Given the description of an element on the screen output the (x, y) to click on. 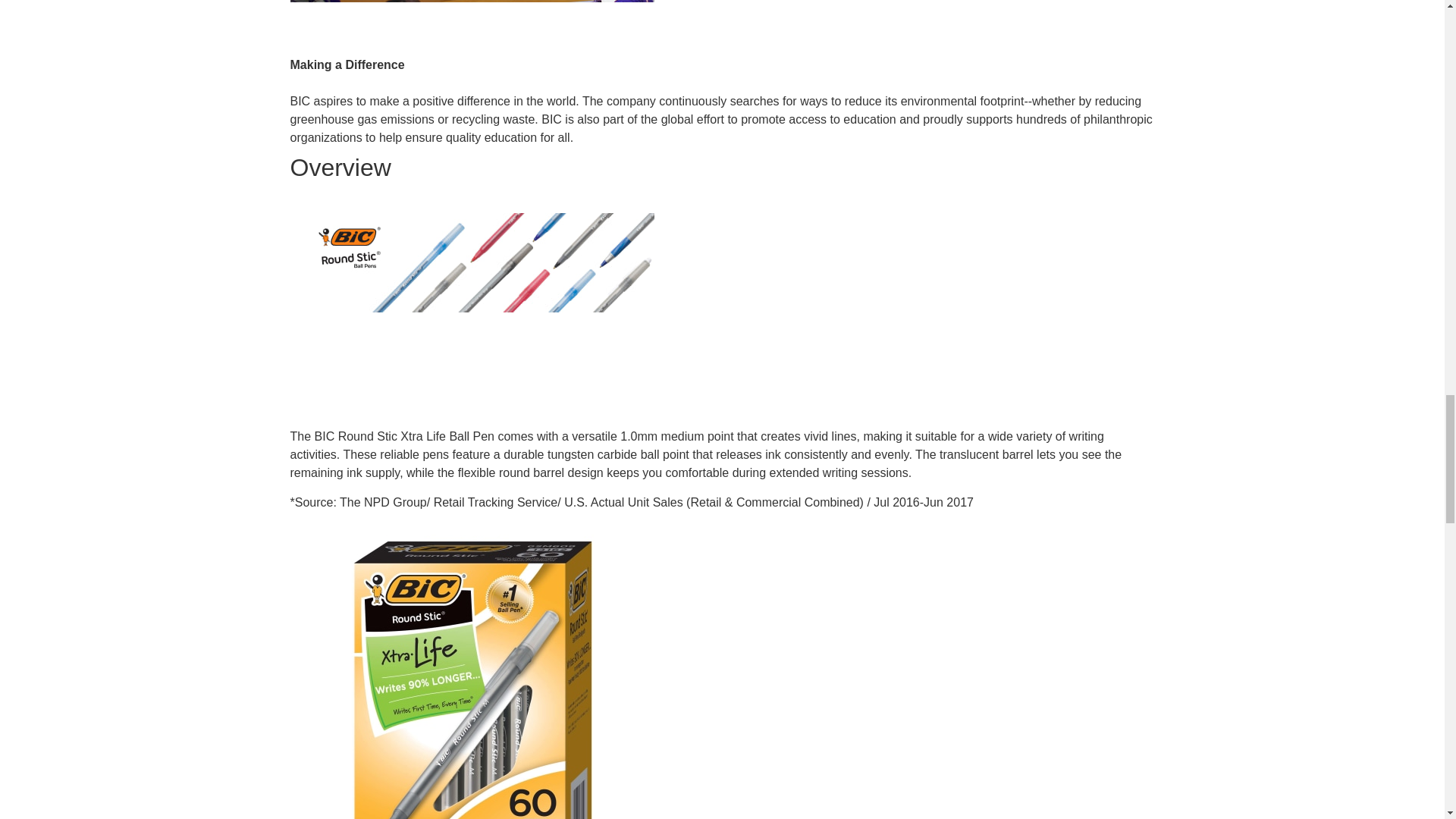
BIC Round Stic Pens Banner (471, 262)
At a Glance: (471, 670)
